Given the description of an element on the screen output the (x, y) to click on. 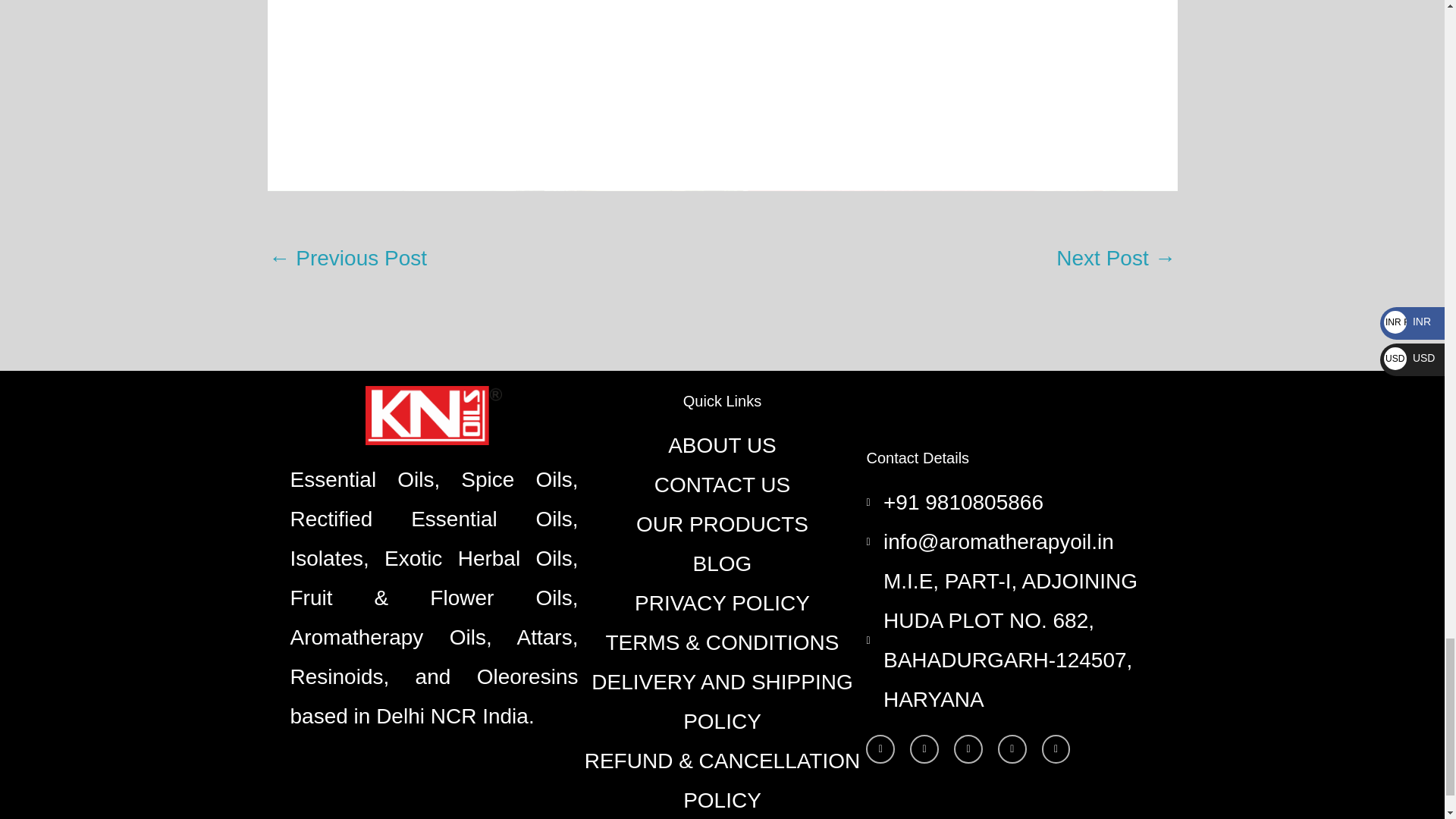
ABOUT US (722, 445)
BLOG (722, 563)
OUR PRODUCTS (722, 524)
CONTACT US (722, 485)
PRIVACY POLICY (722, 603)
Ylang Ylang Essential Oil: History, Extraction, and Uses (1115, 259)
